Given the description of an element on the screen output the (x, y) to click on. 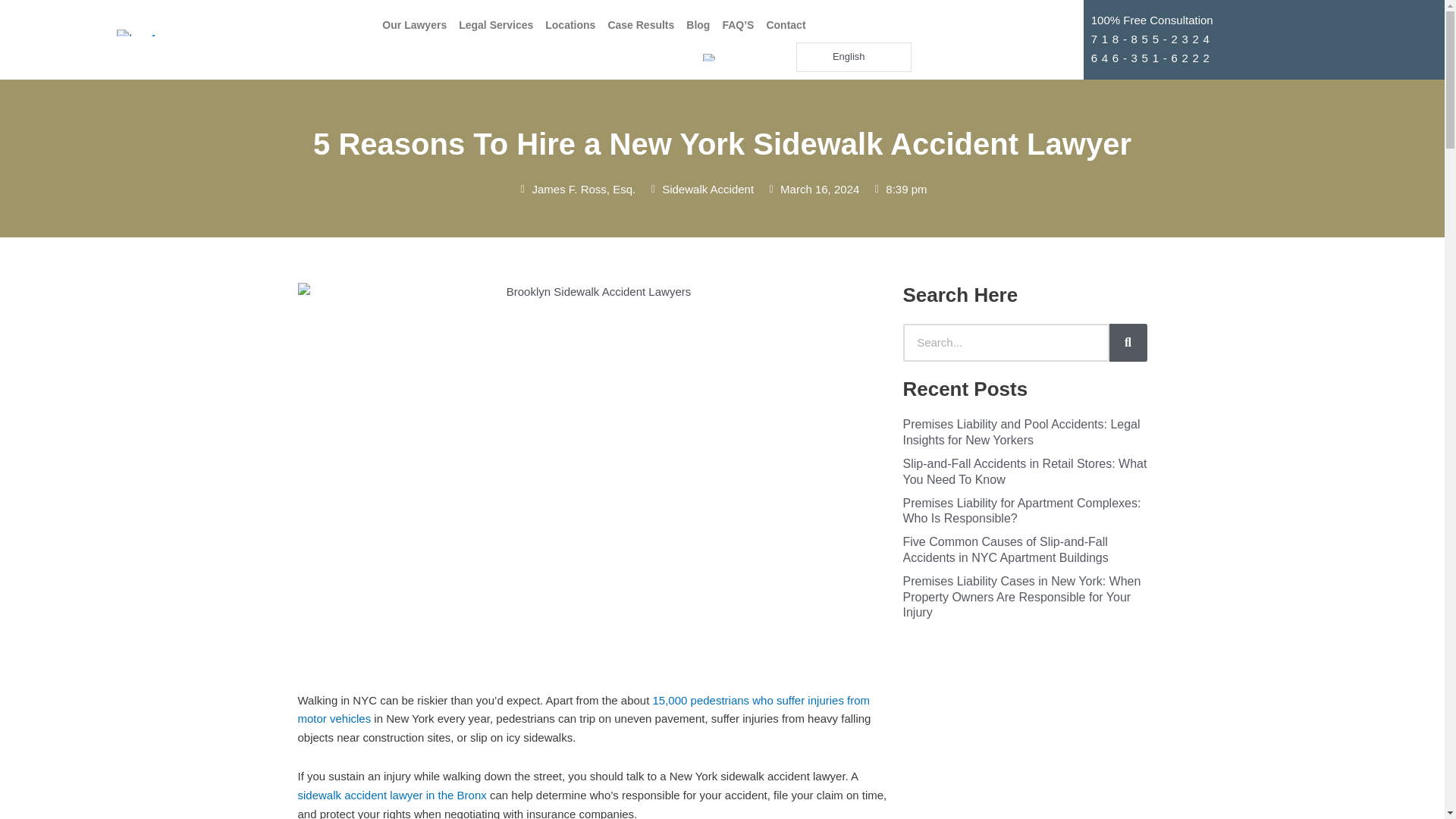
Case Results (640, 24)
Locations (569, 24)
Blog (697, 24)
Legal Services (495, 24)
Our Lawyers (413, 24)
